Given the description of an element on the screen output the (x, y) to click on. 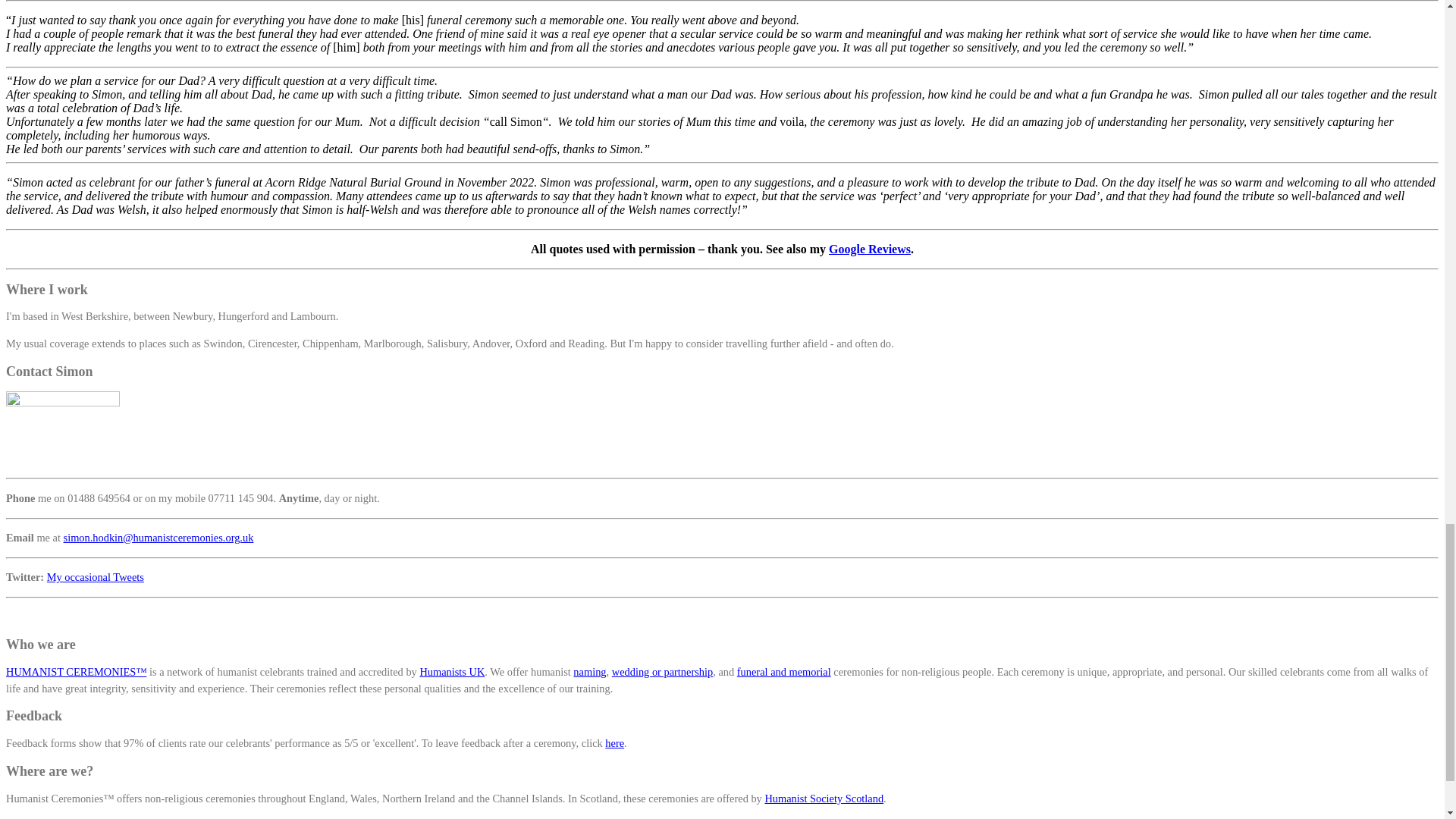
wedding or partnership (662, 671)
Google Reviews (869, 248)
My occasional Tweets (95, 576)
Humanist Society Scotland (823, 798)
Humanists UK (451, 671)
here (614, 743)
naming (589, 671)
funeral and memorial (783, 671)
